Given the description of an element on the screen output the (x, y) to click on. 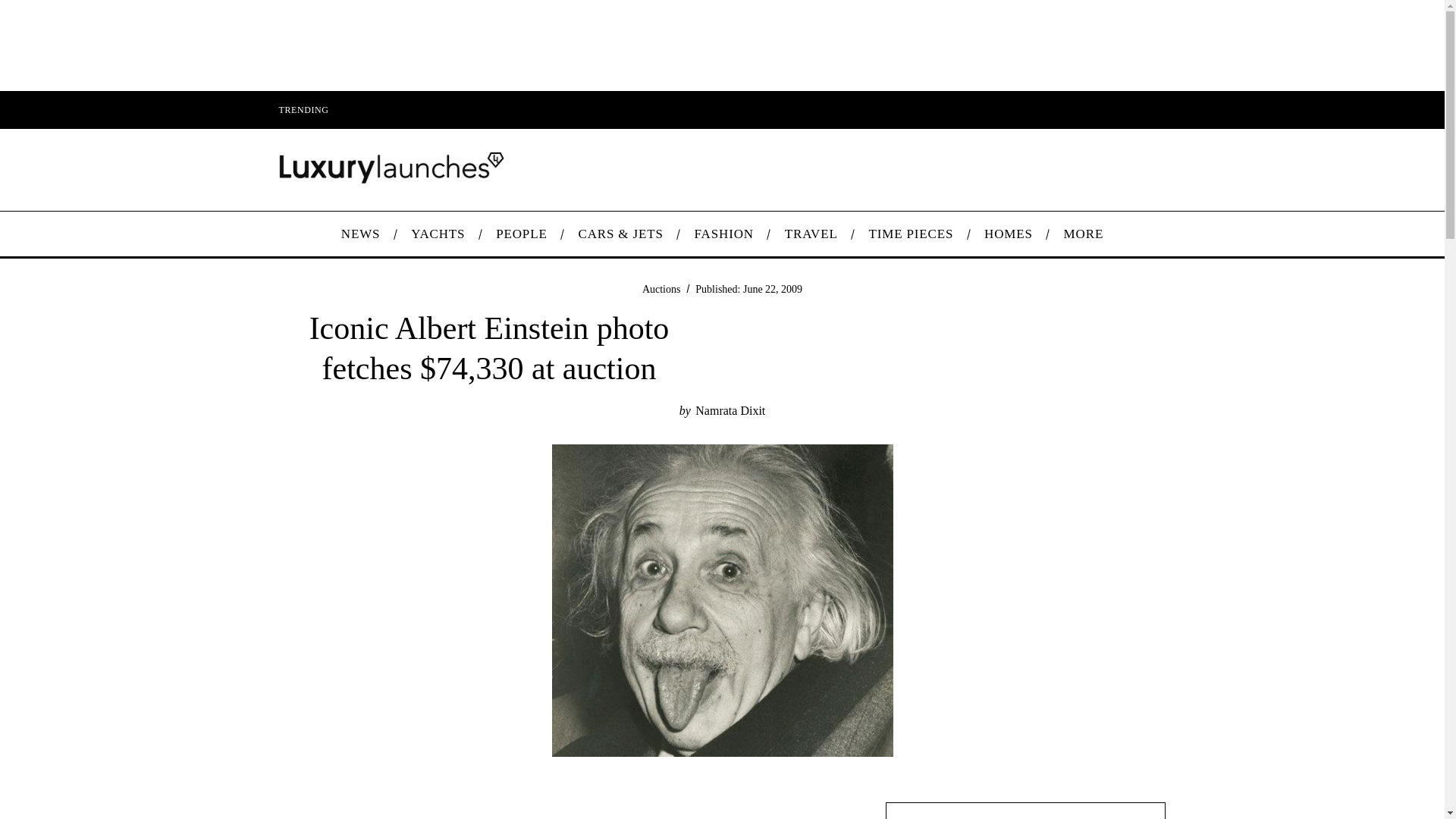
TRENDING (302, 109)
Auctions (661, 288)
TIME PIECES (911, 233)
Namrata Dixit (730, 410)
HOMES (1008, 233)
TRAVEL (810, 233)
MORE (1083, 233)
